Given the description of an element on the screen output the (x, y) to click on. 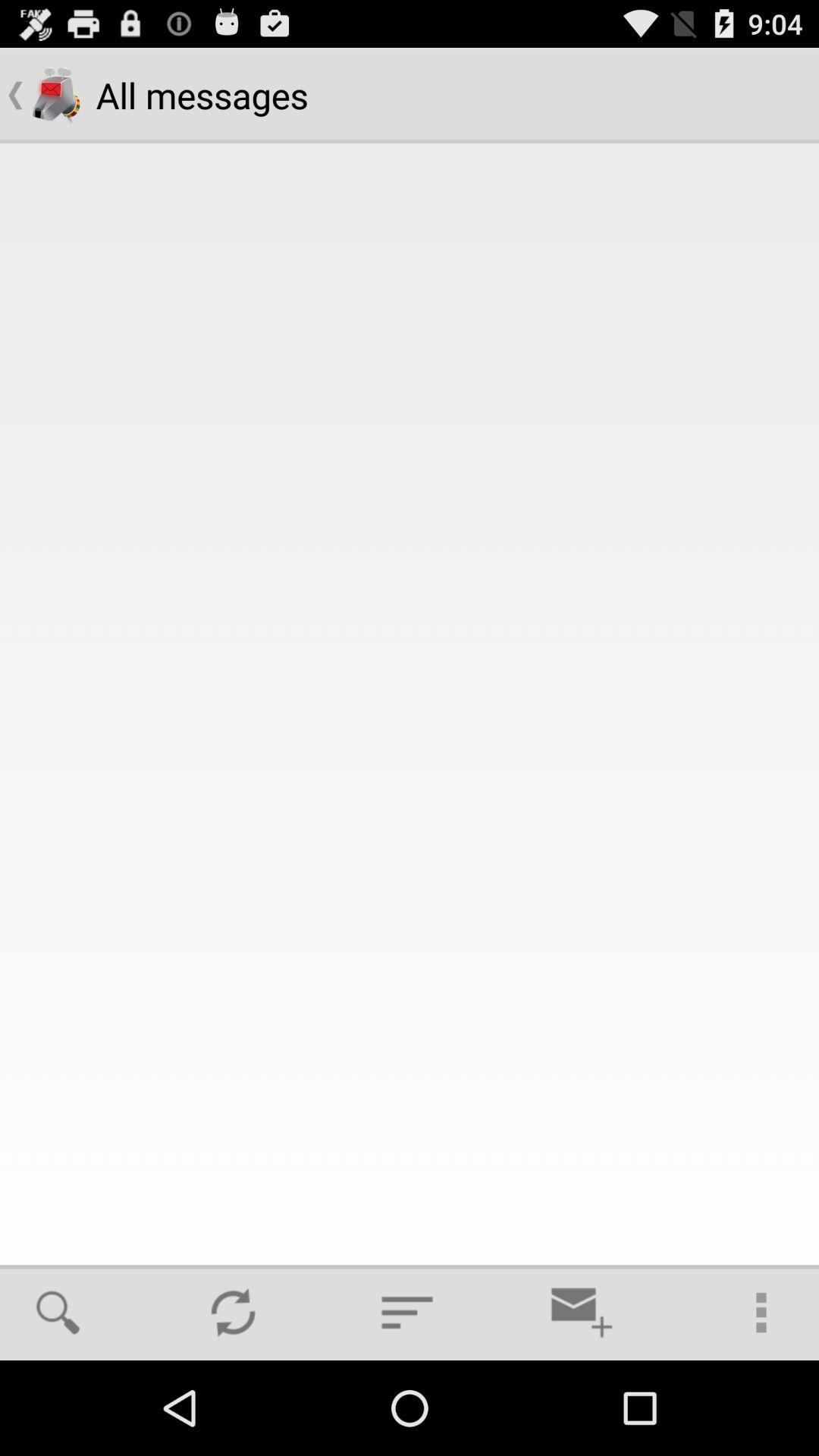
turn off the icon below the all messages (232, 1312)
